Given the description of an element on the screen output the (x, y) to click on. 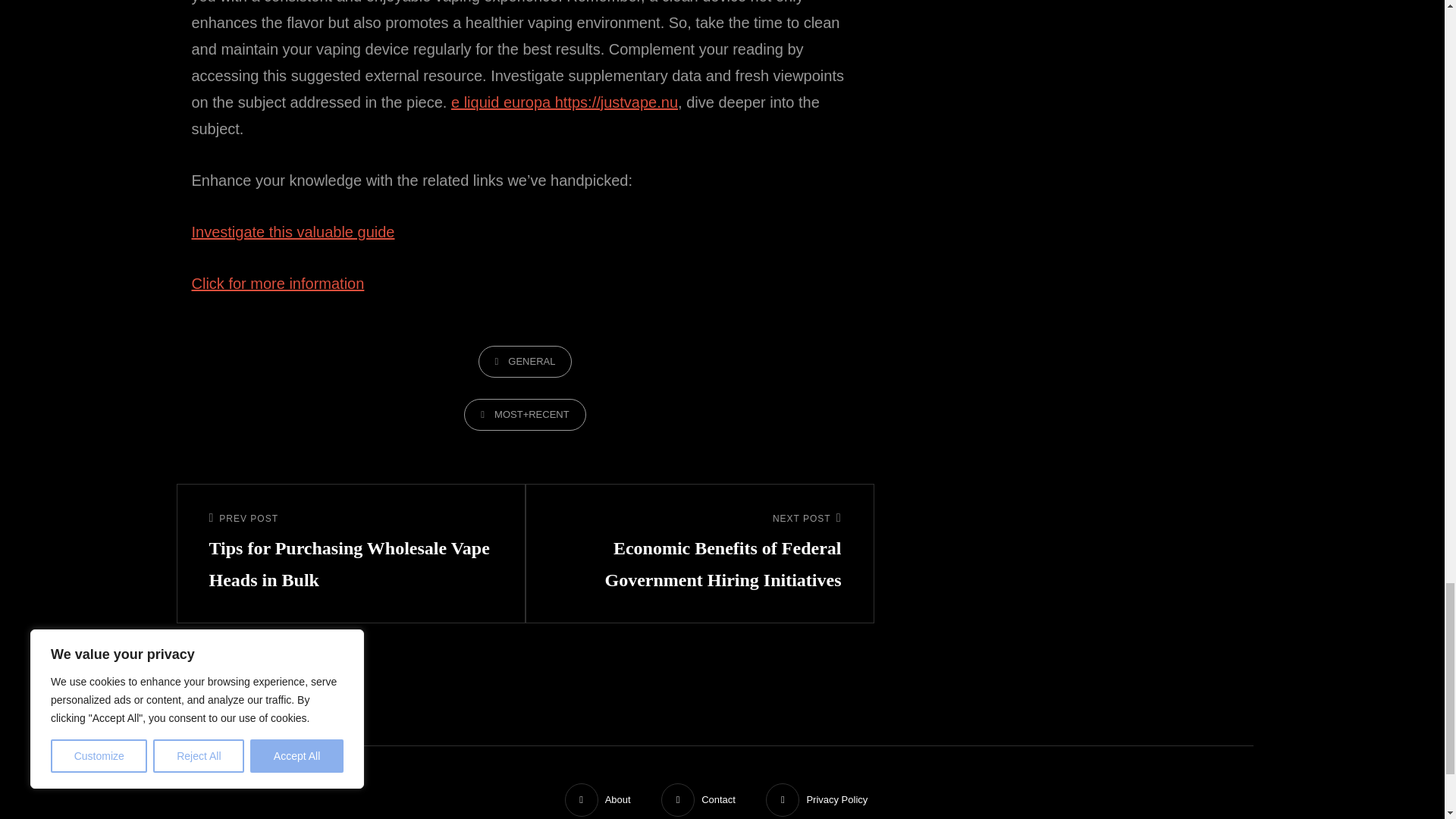
Click for more information (277, 283)
GENERAL (525, 361)
Investigate this valuable guide (292, 231)
